Given the description of an element on the screen output the (x, y) to click on. 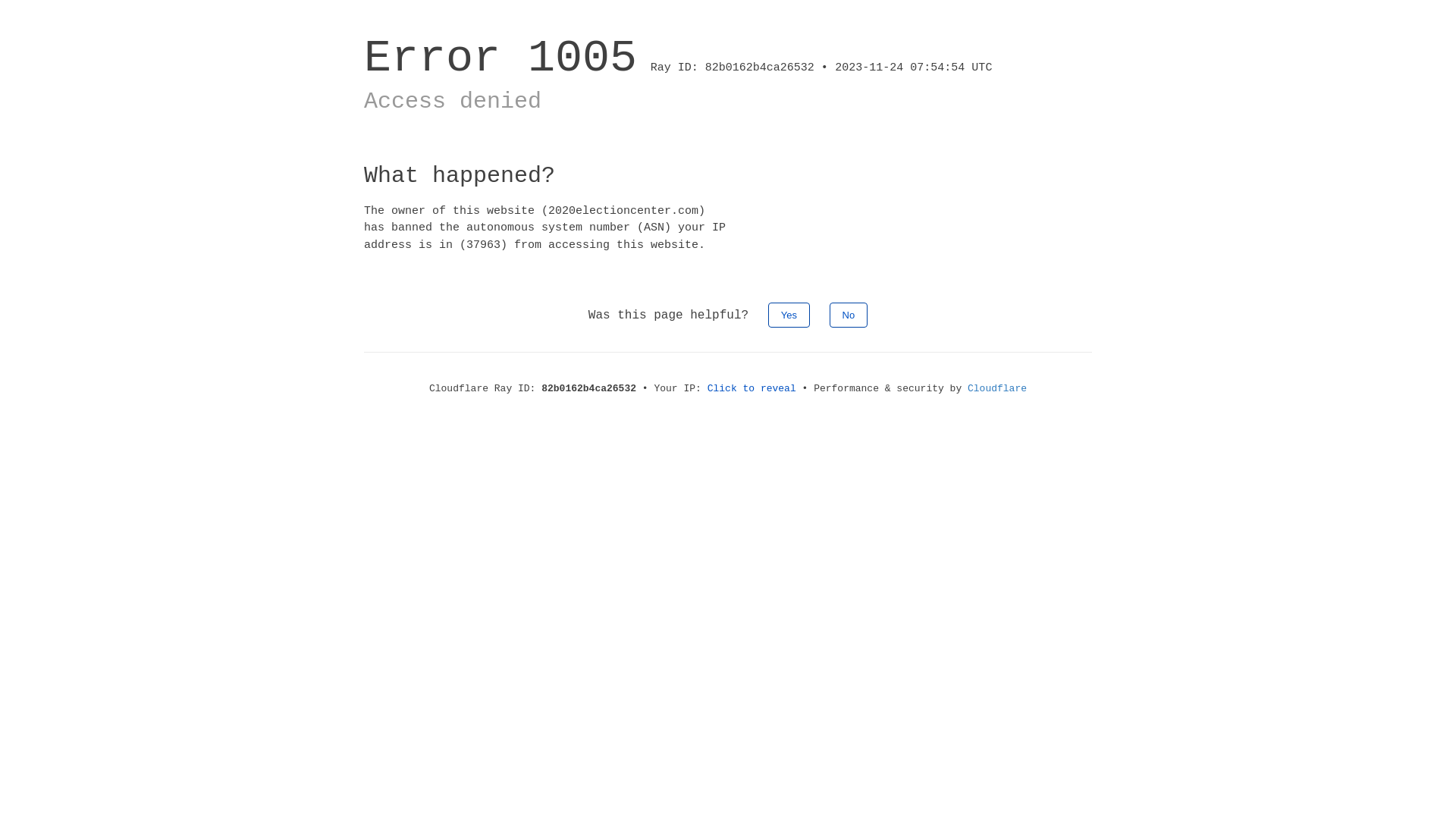
Click to reveal Element type: text (751, 388)
Cloudflare Element type: text (996, 388)
Yes Element type: text (788, 314)
No Element type: text (848, 314)
